Given the description of an element on the screen output the (x, y) to click on. 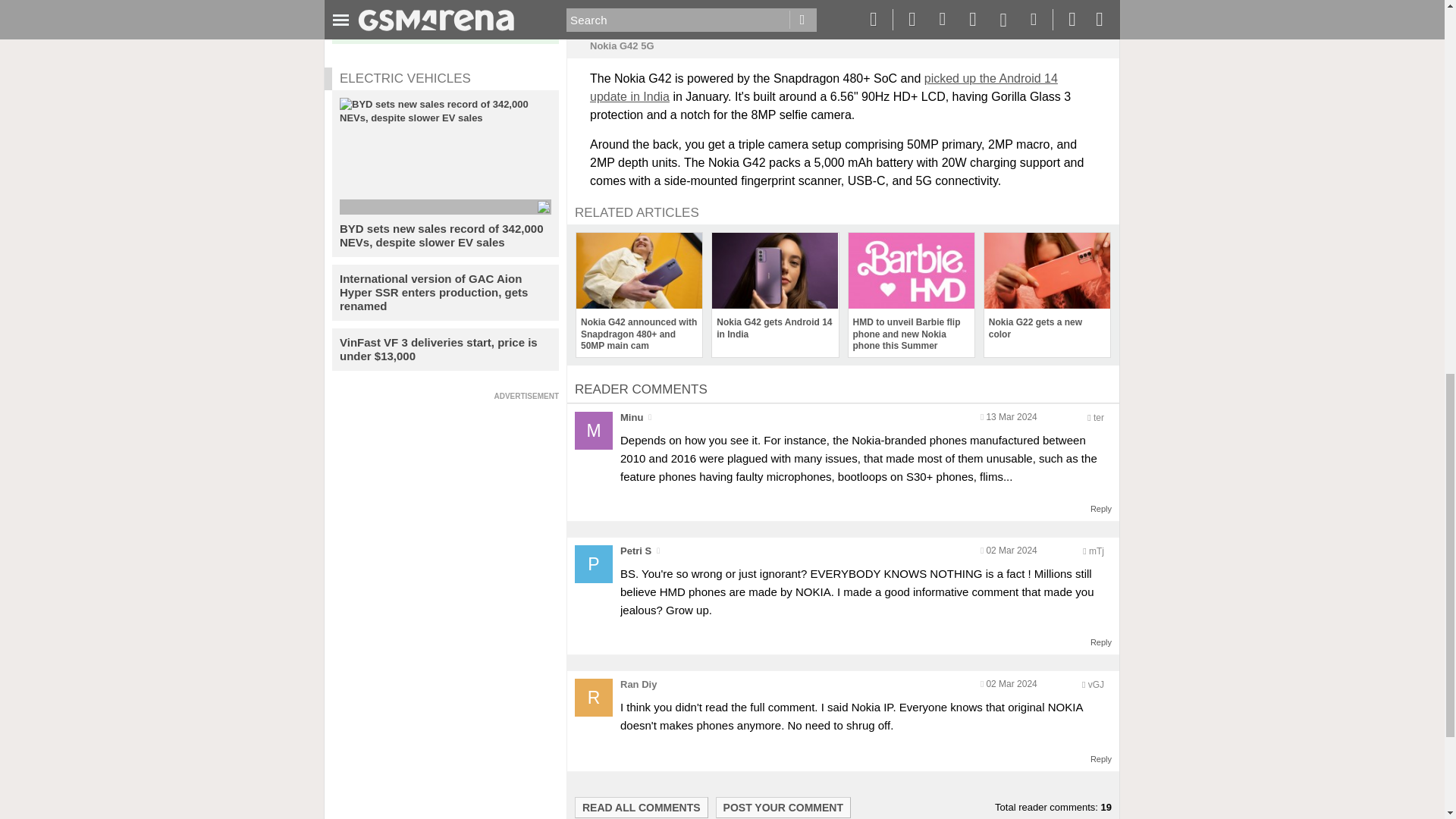
Reply to this post (1101, 508)
Encoded anonymized location (1098, 417)
Reply to this post (1101, 642)
Encoded anonymized location (1096, 551)
Reply to this post (1101, 758)
Encoded anonymized location (1095, 684)
picked up the Android 14 update in India (823, 87)
